Given the description of an element on the screen output the (x, y) to click on. 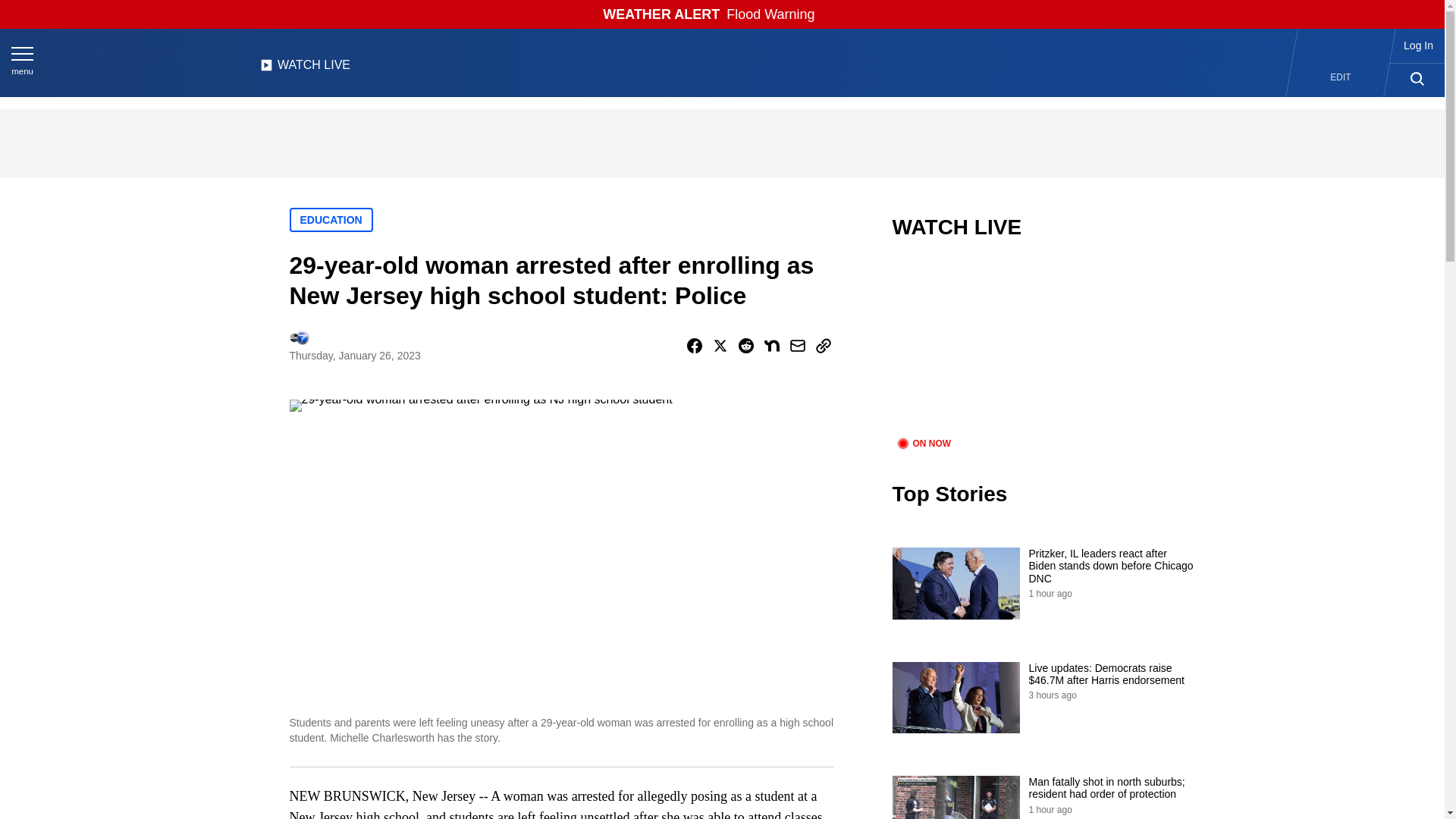
EDIT (1340, 77)
video.title (1043, 347)
WATCH LIVE (305, 69)
